Given the description of an element on the screen output the (x, y) to click on. 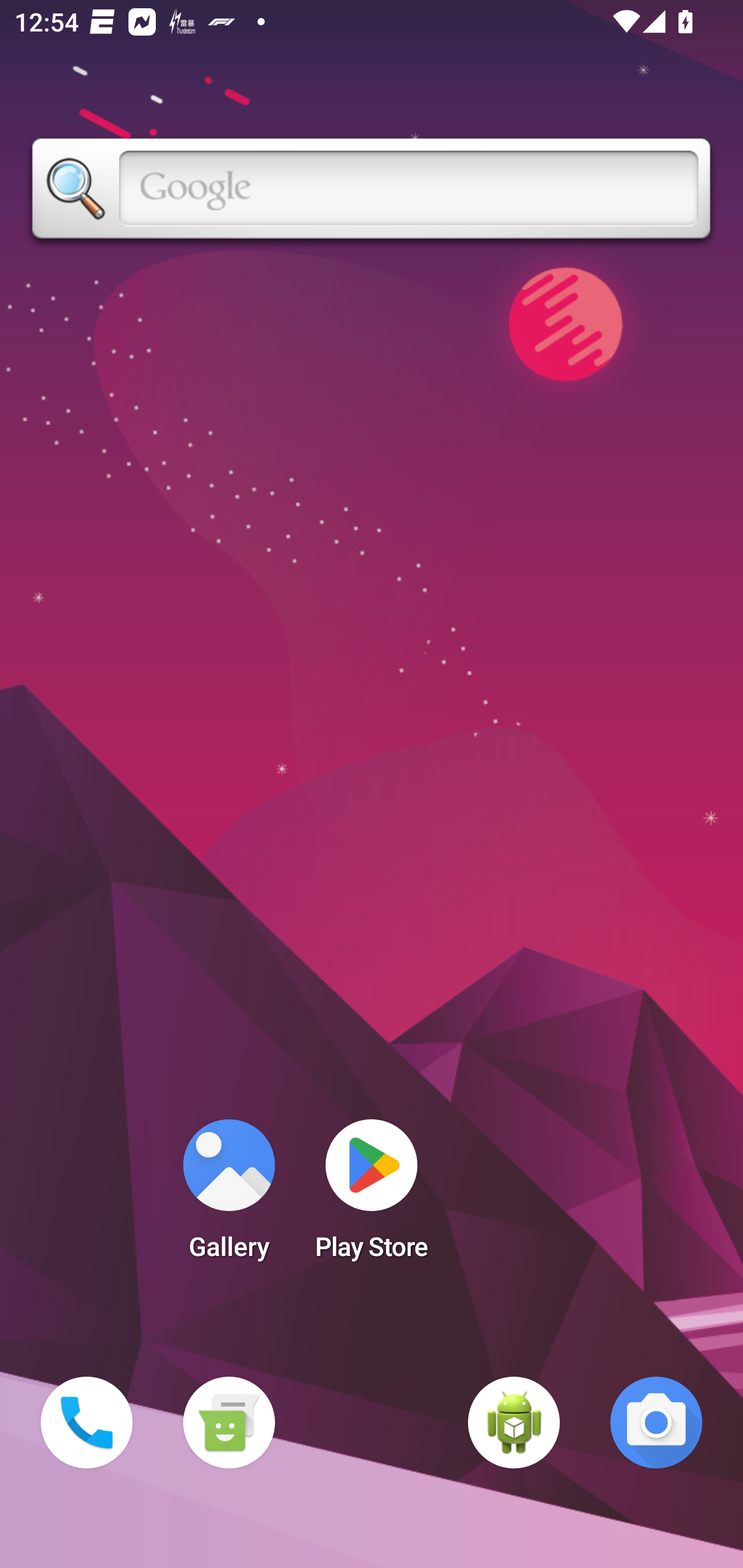
Gallery (228, 1195)
Play Store (371, 1195)
Phone (86, 1422)
Messaging (228, 1422)
WebView Browser Tester (513, 1422)
Camera (656, 1422)
